Given the description of an element on the screen output the (x, y) to click on. 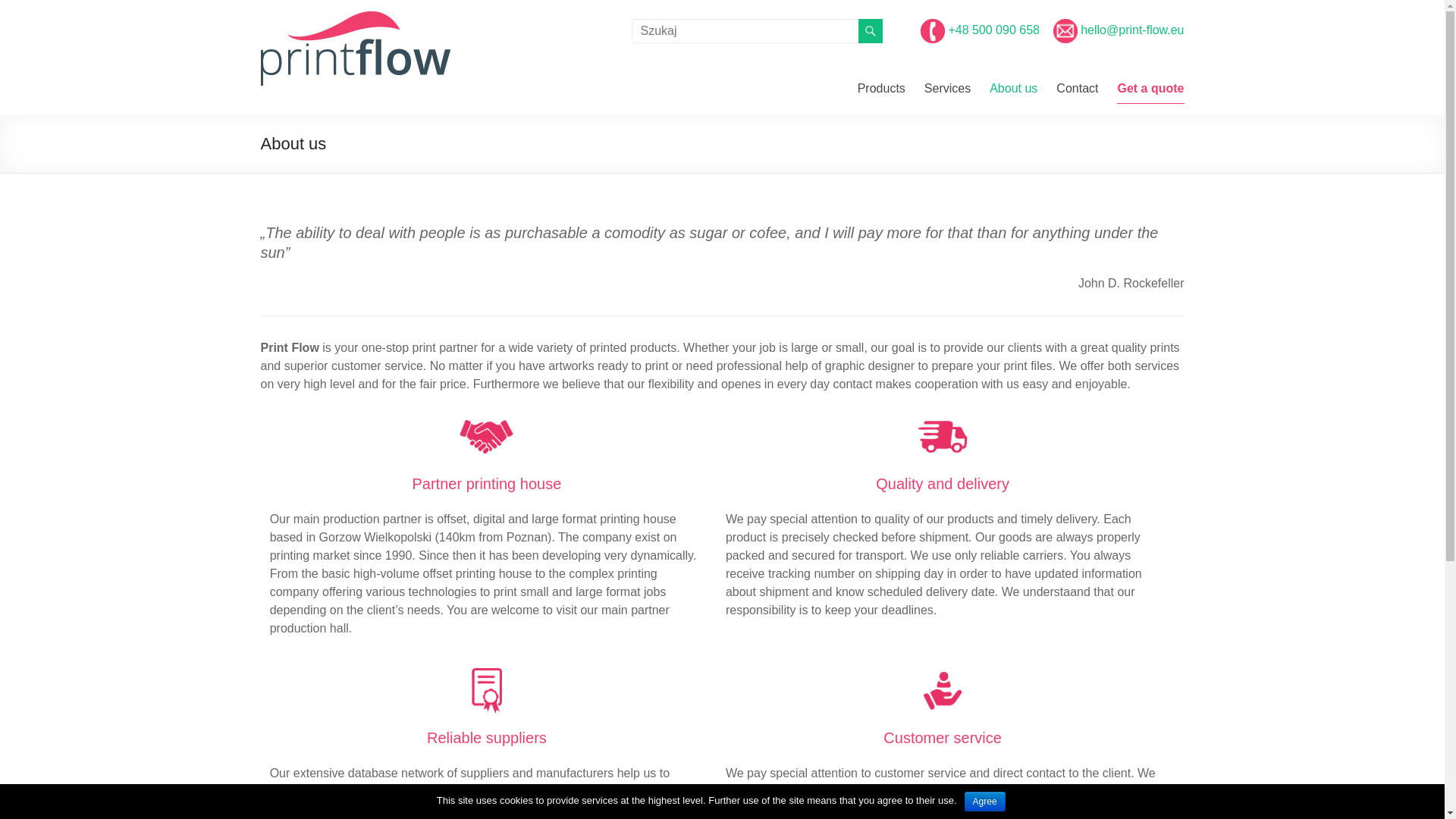
About us (1013, 92)
Contact (1077, 92)
Products (881, 92)
Services (947, 92)
Get a quote (1149, 92)
